Given the description of an element on the screen output the (x, y) to click on. 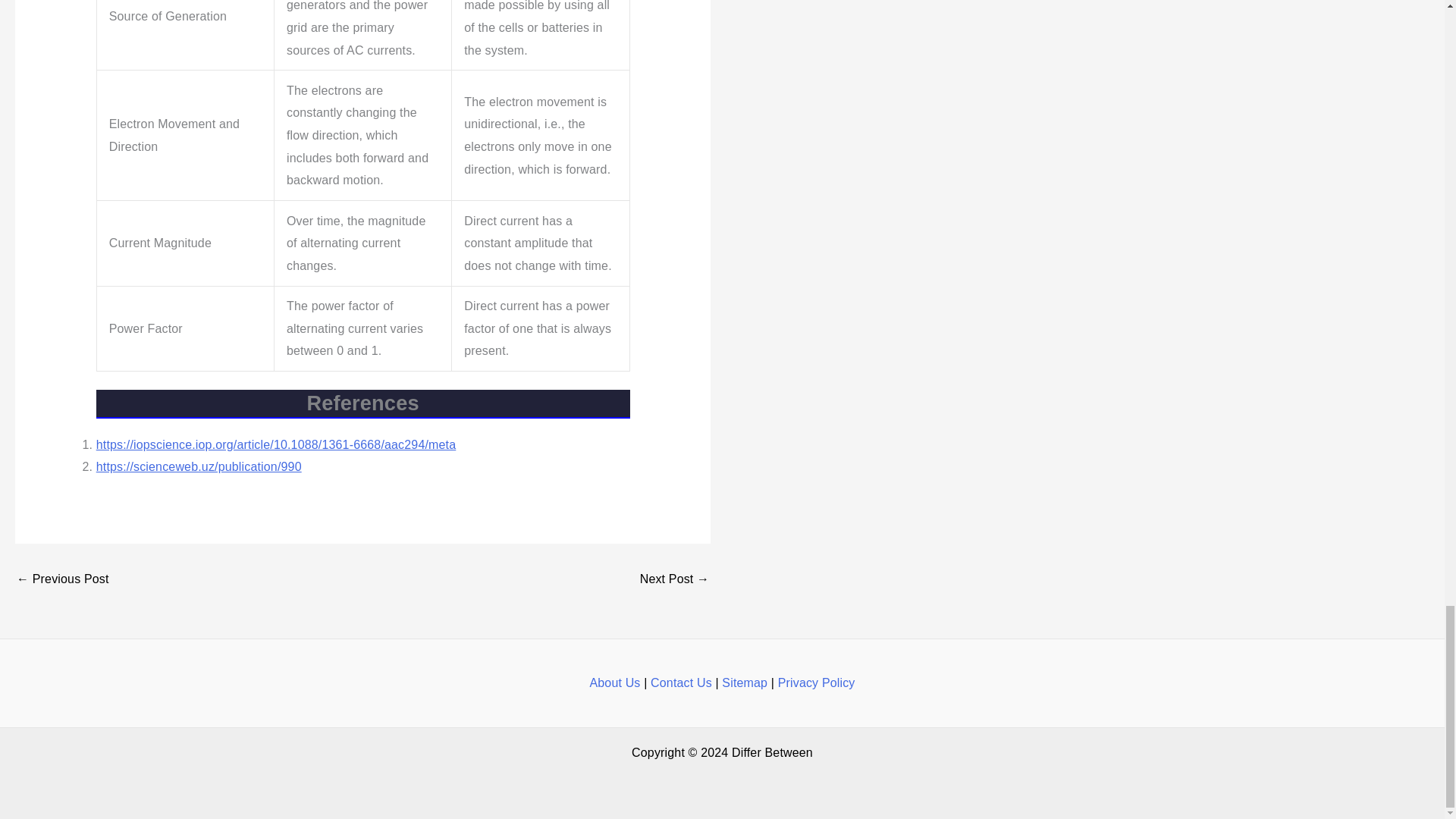
Privacy Policy (816, 682)
Contact Us (680, 682)
About Us (614, 682)
Sitemap (744, 682)
